Given the description of an element on the screen output the (x, y) to click on. 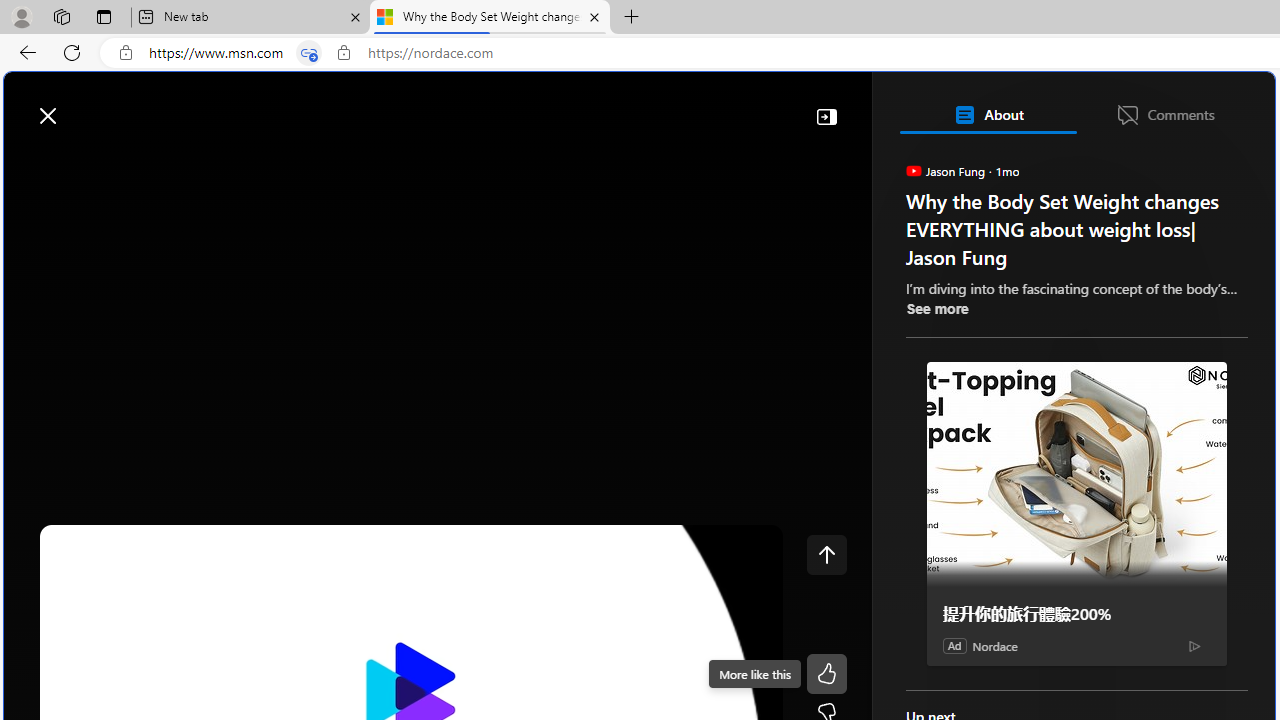
Class: control icon-only (826, 554)
Refresh (72, 52)
Open navigation menu (29, 162)
Nordace (994, 645)
Enter your search term (644, 106)
Back (24, 52)
Watch (249, 162)
The Associated Press (974, 645)
Skip to content (86, 105)
New tab (250, 17)
Web search (283, 105)
